Given the description of an element on the screen output the (x, y) to click on. 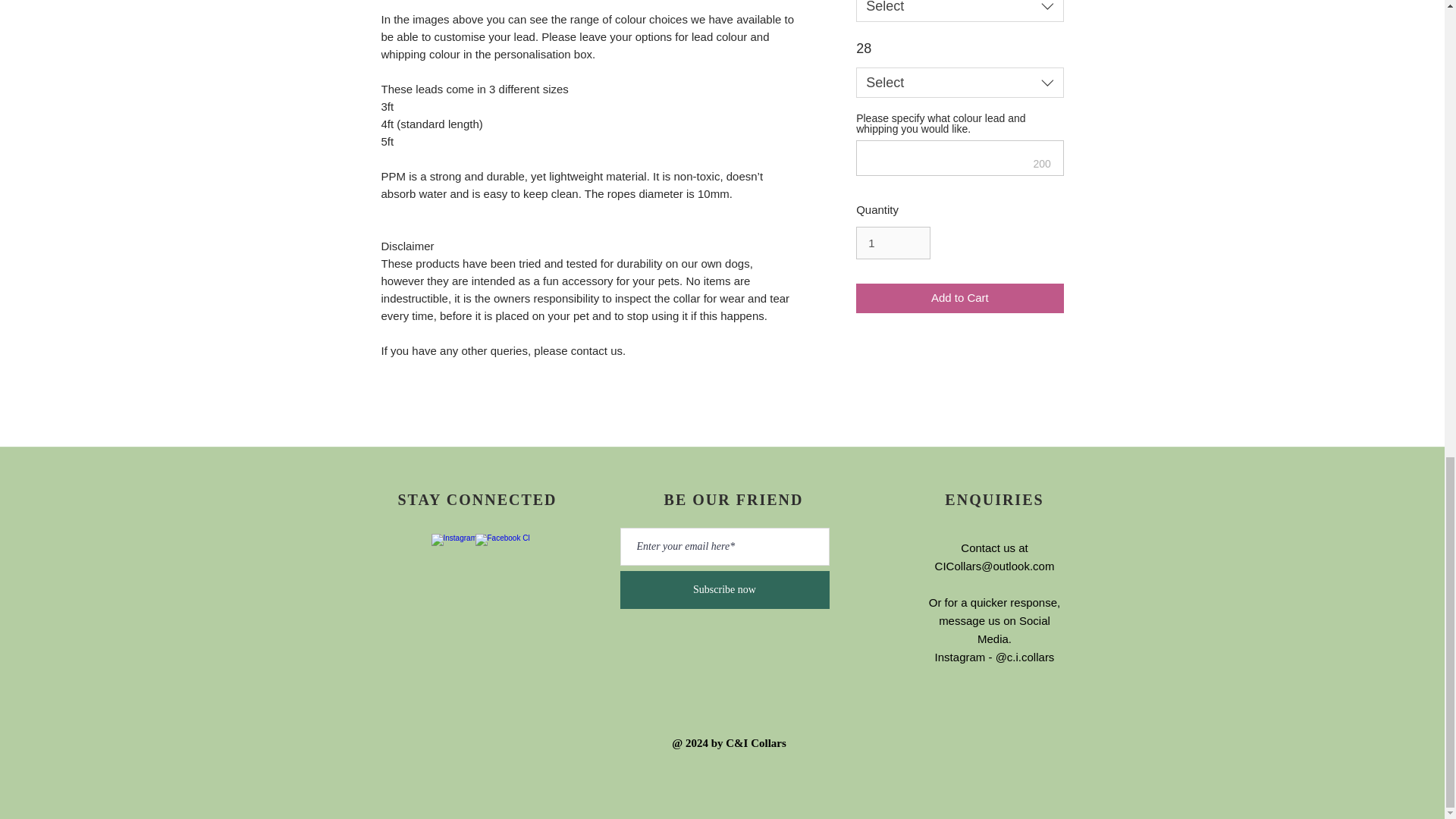
1 (893, 243)
Add to Cart (959, 297)
Select (959, 82)
Select (959, 11)
